Given the description of an element on the screen output the (x, y) to click on. 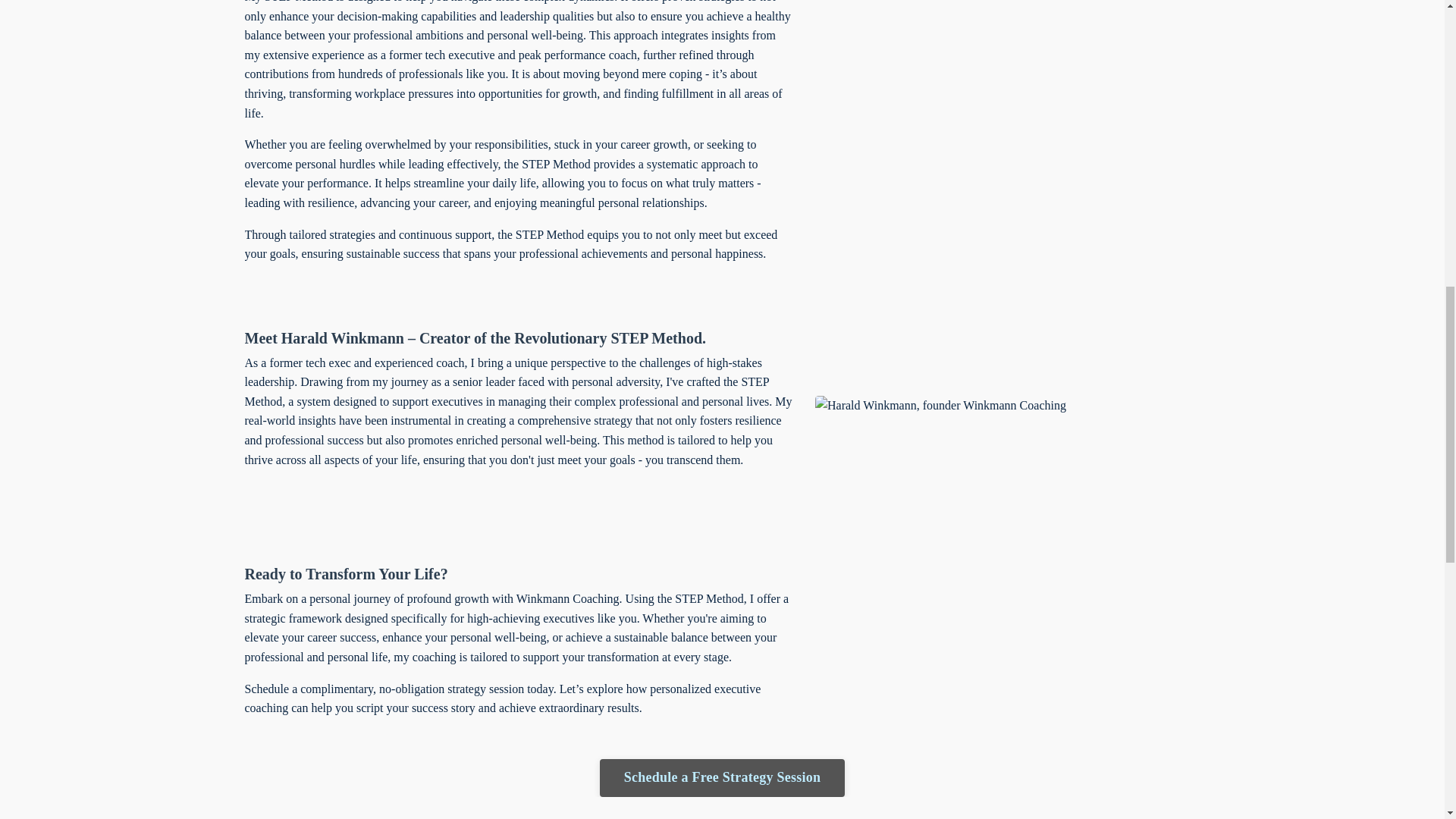
Schedule a Free Strategy Session (722, 777)
